Given the description of an element on the screen output the (x, y) to click on. 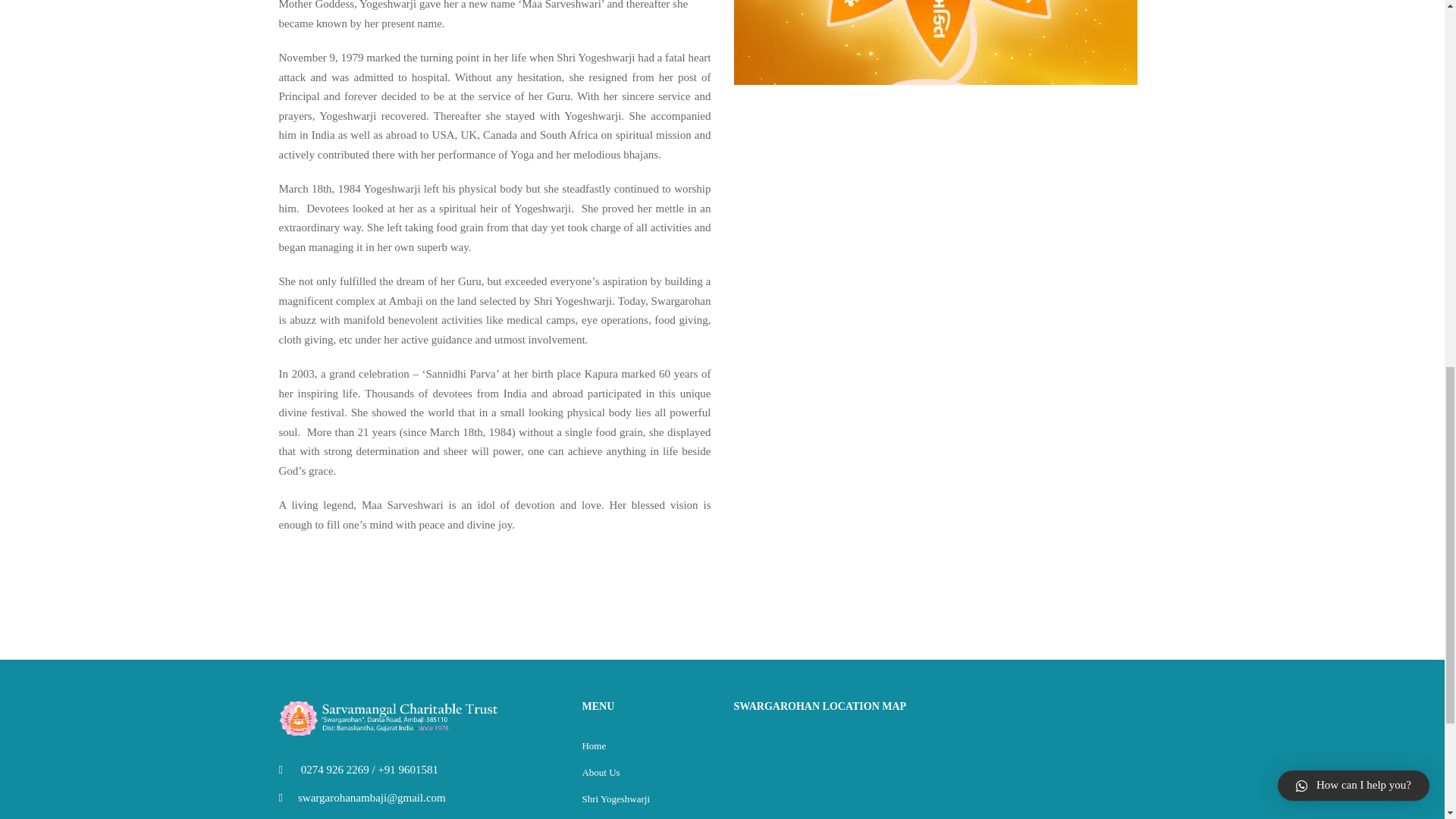
Shri Yogeshwarji (614, 798)
Home (592, 745)
About Us (600, 772)
